Given the description of an element on the screen output the (x, y) to click on. 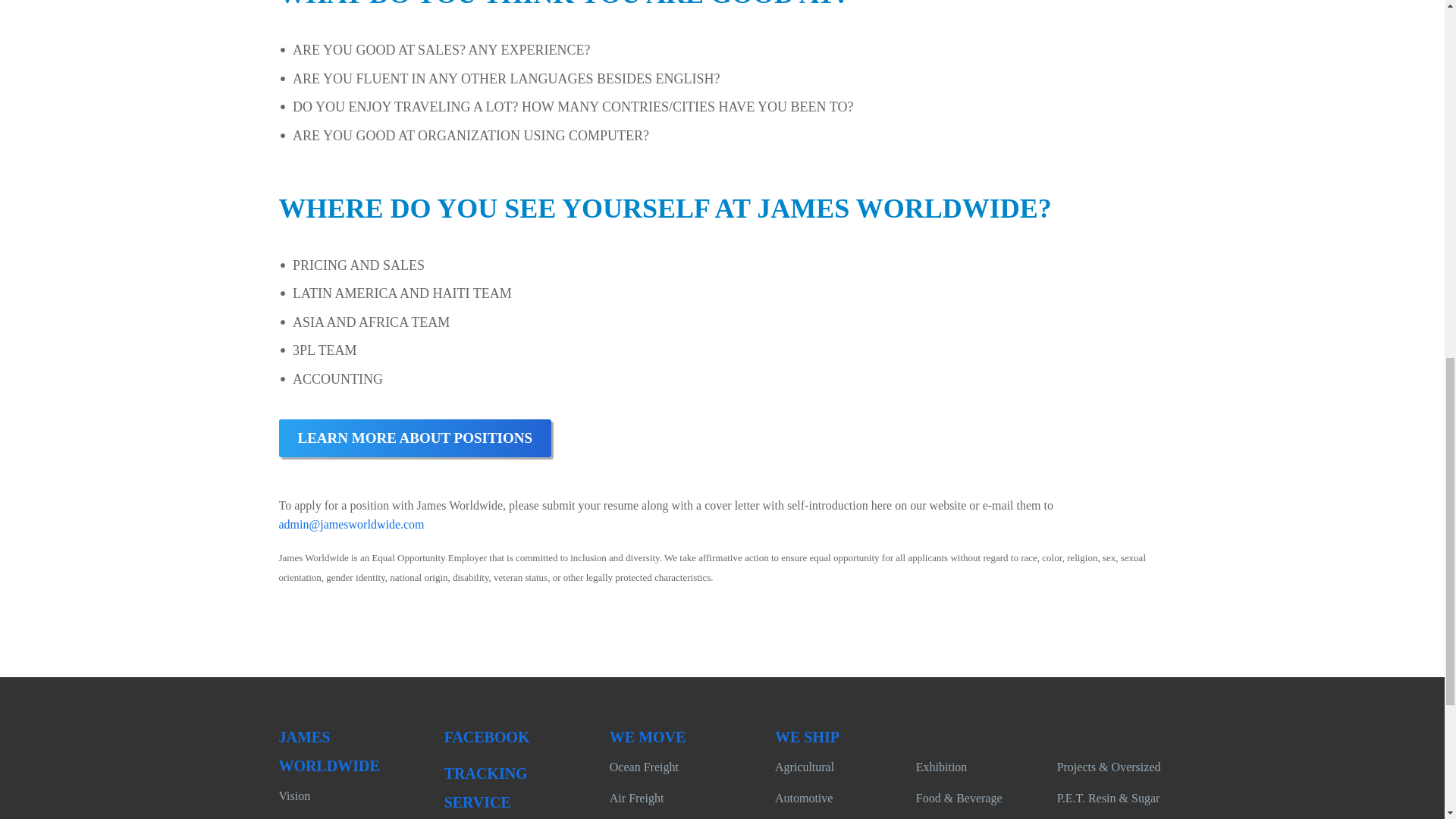
Vision (295, 795)
JAMES WORLDWIDE (329, 750)
LEARN MORE ABOUT POSITIONS (415, 438)
